Given the description of an element on the screen output the (x, y) to click on. 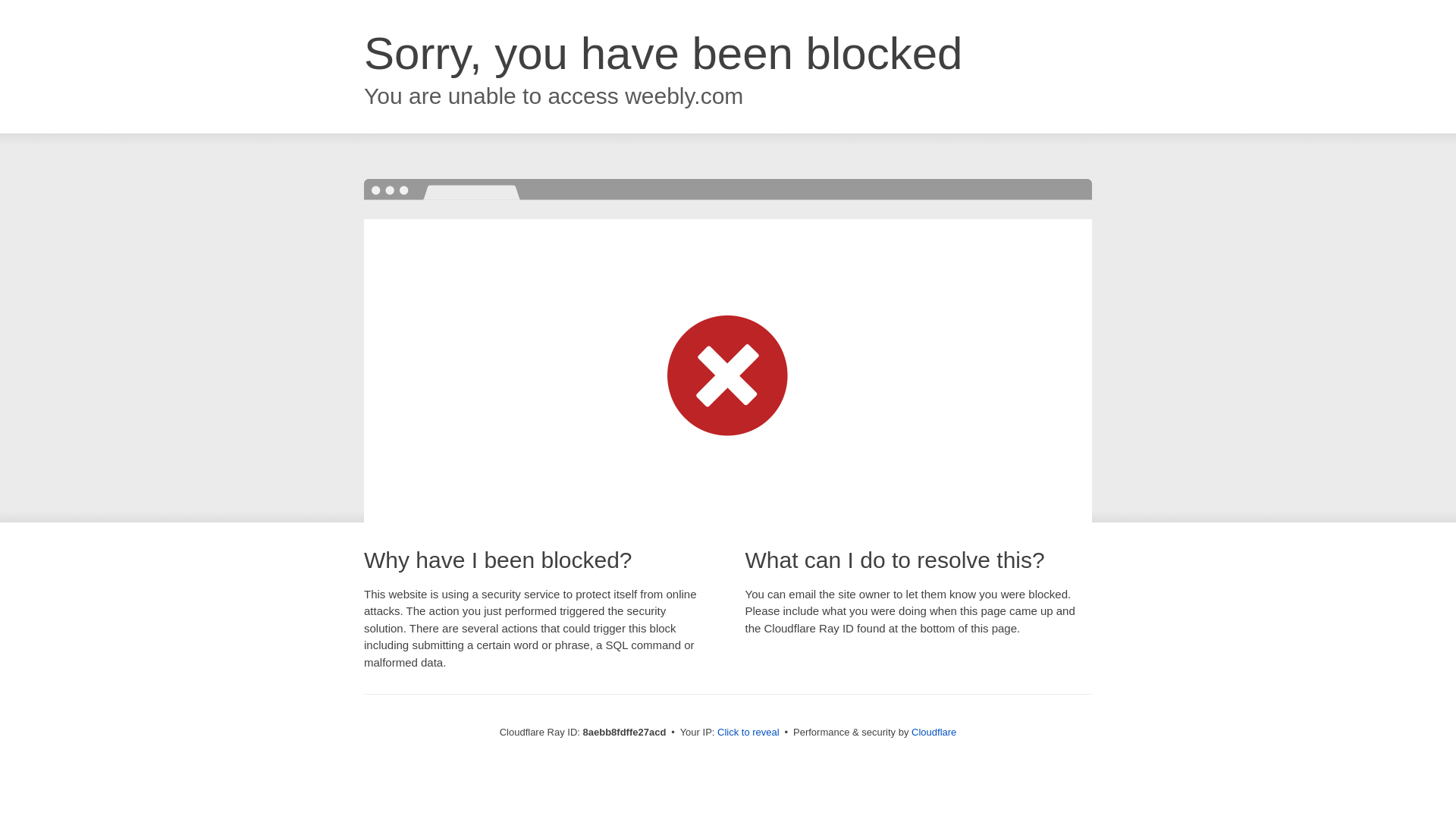
Click to reveal (747, 732)
Cloudflare (933, 731)
